Given the description of an element on the screen output the (x, y) to click on. 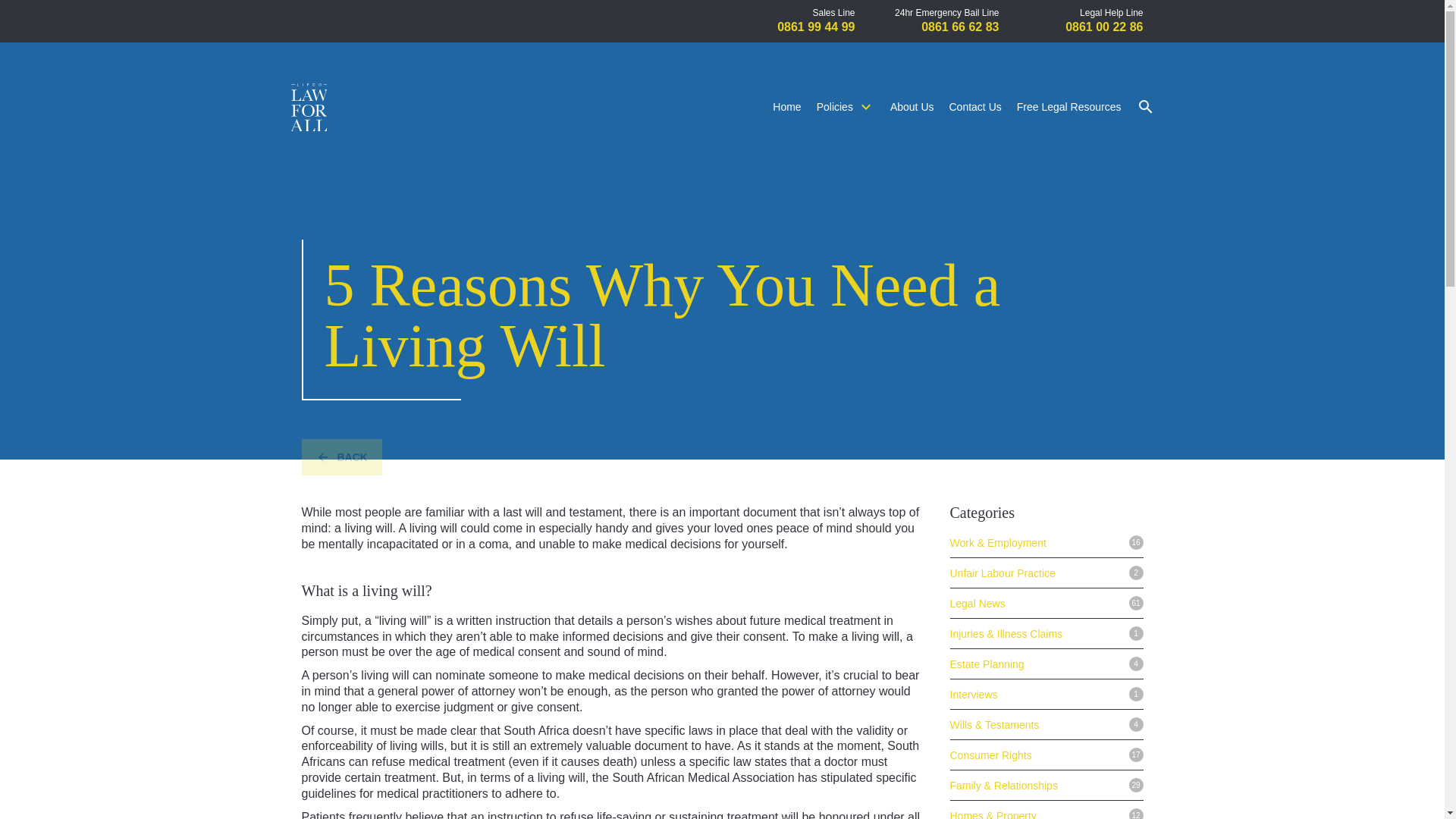
Home (786, 106)
Legal News (976, 603)
Free Legal Resources (1068, 106)
0861 00 22 86 (1103, 26)
About Us (911, 106)
Policies (845, 106)
Unfair Labour Practice (1001, 572)
Interviews (973, 694)
0861 99 44 99 (815, 26)
Contact Us (975, 106)
